Given the description of an element on the screen output the (x, y) to click on. 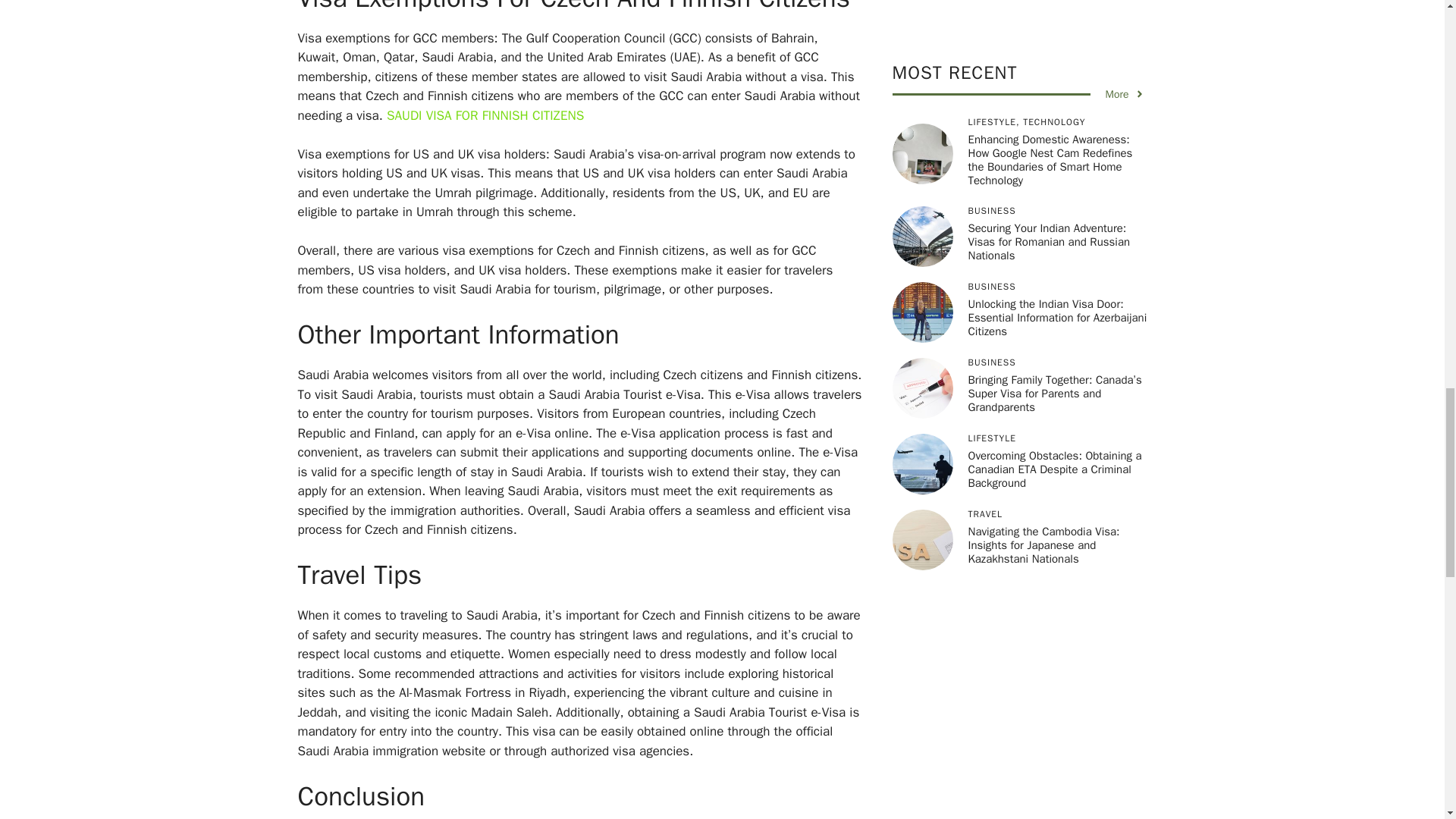
SAUDI VISA FOR FINNISH CITIZENS (482, 115)
